Given the description of an element on the screen output the (x, y) to click on. 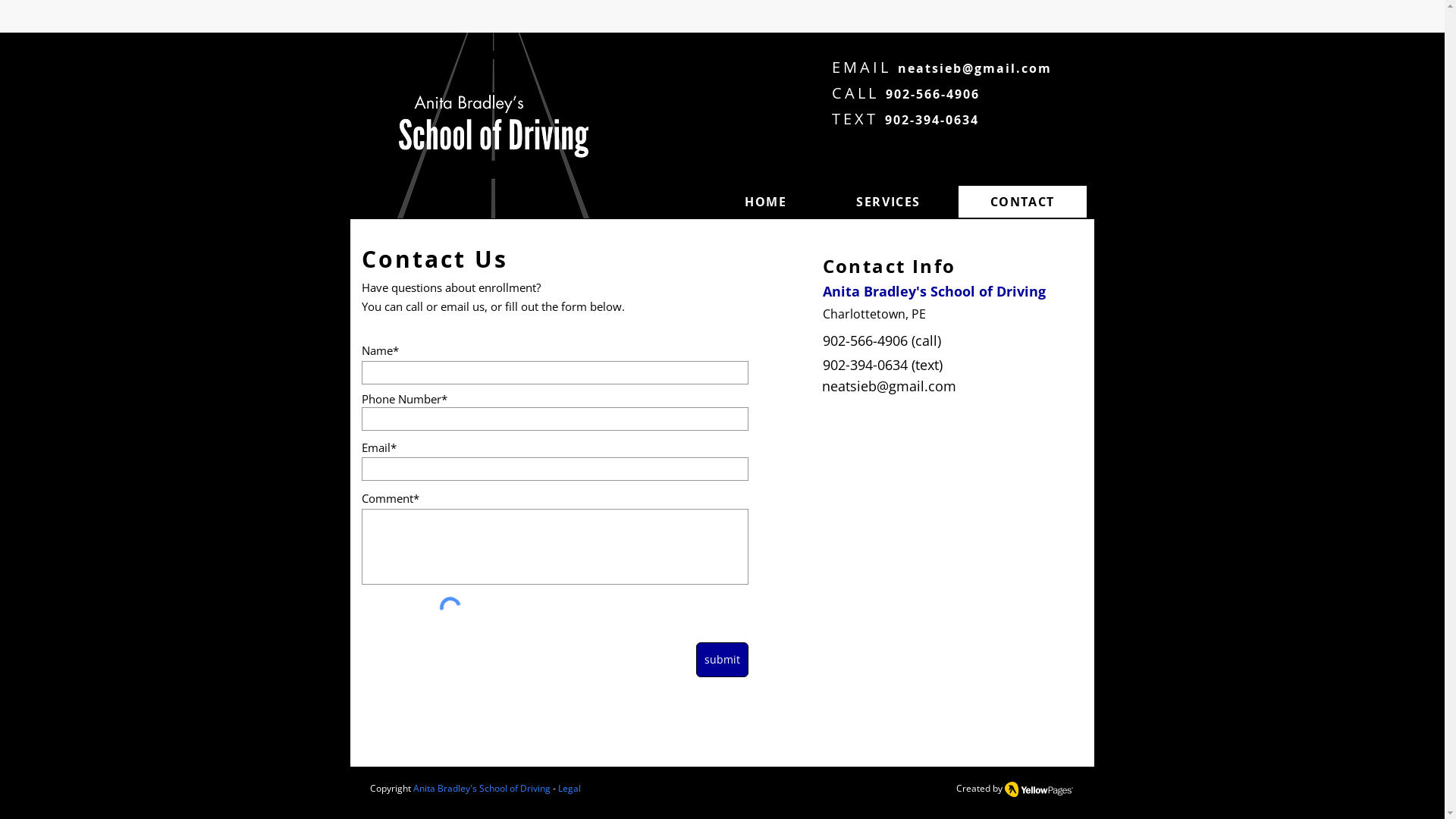
School of Driving.png Element type: hover (492, 124)
neatsieb@gmail.com Element type: text (889, 386)
eb@gmail.com Element type: text (997, 67)
HOME Element type: text (765, 201)
902-566-4906 (call) Element type: text (881, 340)
Anita Bradley's School of Driving Element type: text (480, 788)
Legal Element type: text (569, 788)
CONTACT Element type: text (1022, 202)
submit Element type: text (722, 659)
SERVICES Element type: text (887, 201)
